Given the description of an element on the screen output the (x, y) to click on. 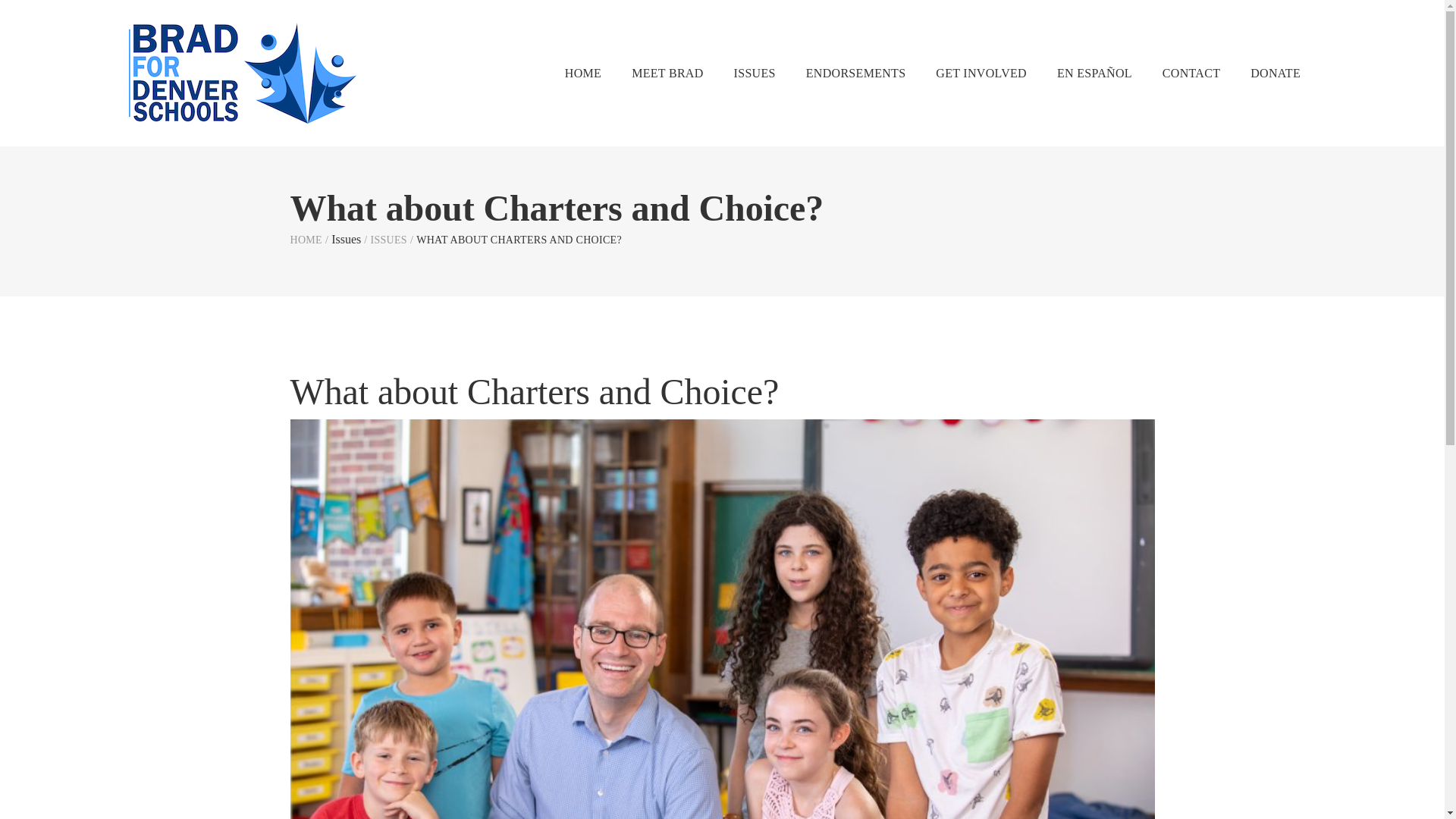
DONATE (1275, 72)
Brad for Denver Schools (305, 239)
What about Charters and Choice? (533, 391)
ISSUES (387, 239)
Issues (387, 239)
Issues (346, 238)
CONTACT (1190, 72)
ISSUES (754, 72)
HOME (305, 239)
MEET BRAD (667, 72)
ENDORSEMENTS (855, 72)
HOME (582, 72)
Issues (346, 238)
